Given the description of an element on the screen output the (x, y) to click on. 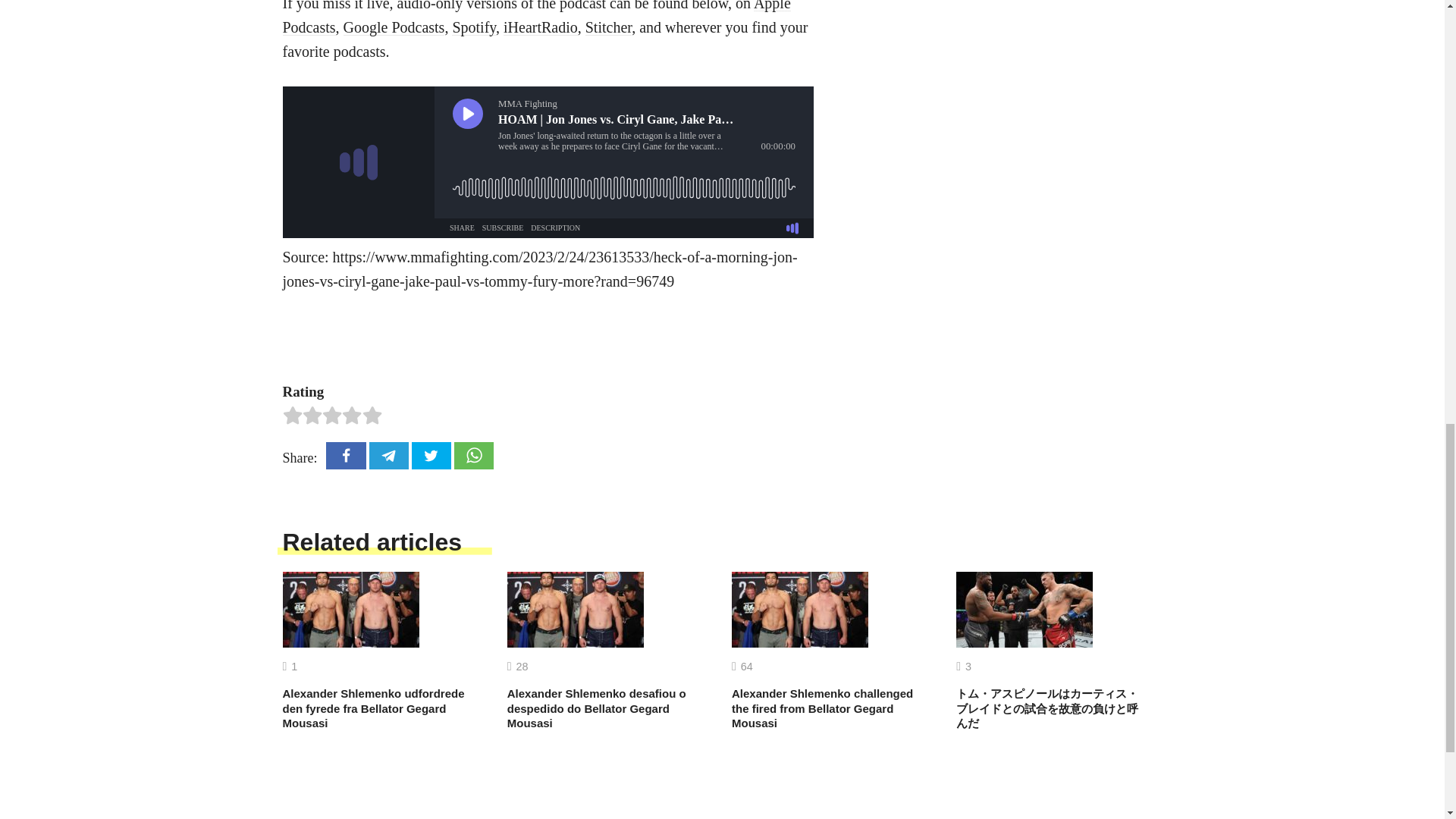
Apple Podcasts (536, 18)
iHeartRadio (540, 27)
Spotify (473, 27)
Stitcher (608, 27)
Google Podcasts (393, 27)
